Given the description of an element on the screen output the (x, y) to click on. 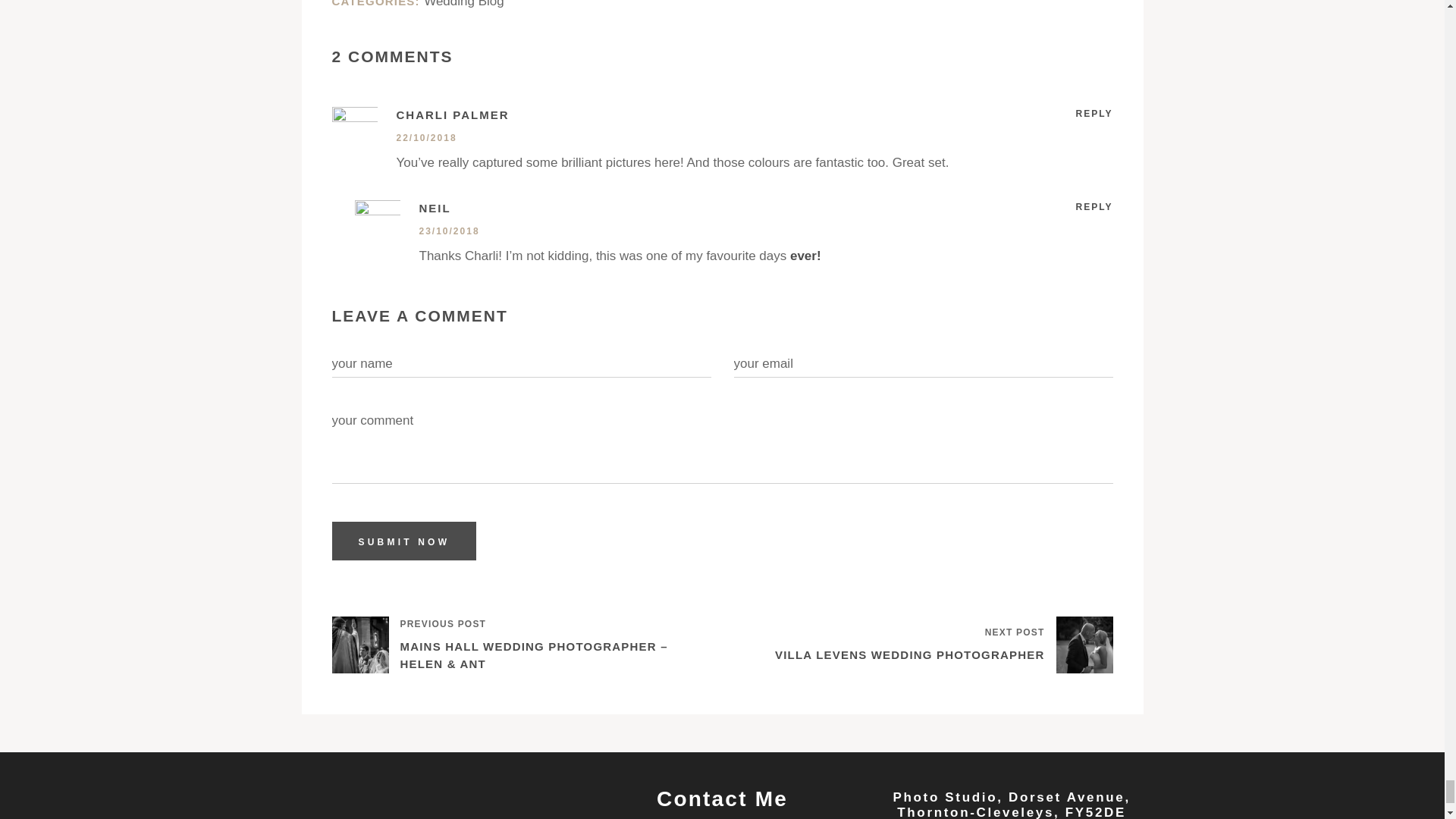
REPLY (1094, 113)
VILLA LEVENS WEDDING PHOTOGRAPHER (908, 655)
Submit Now (404, 540)
Wedding Blog (463, 4)
REPLY (1094, 206)
Submit Now (404, 540)
